Given the description of an element on the screen output the (x, y) to click on. 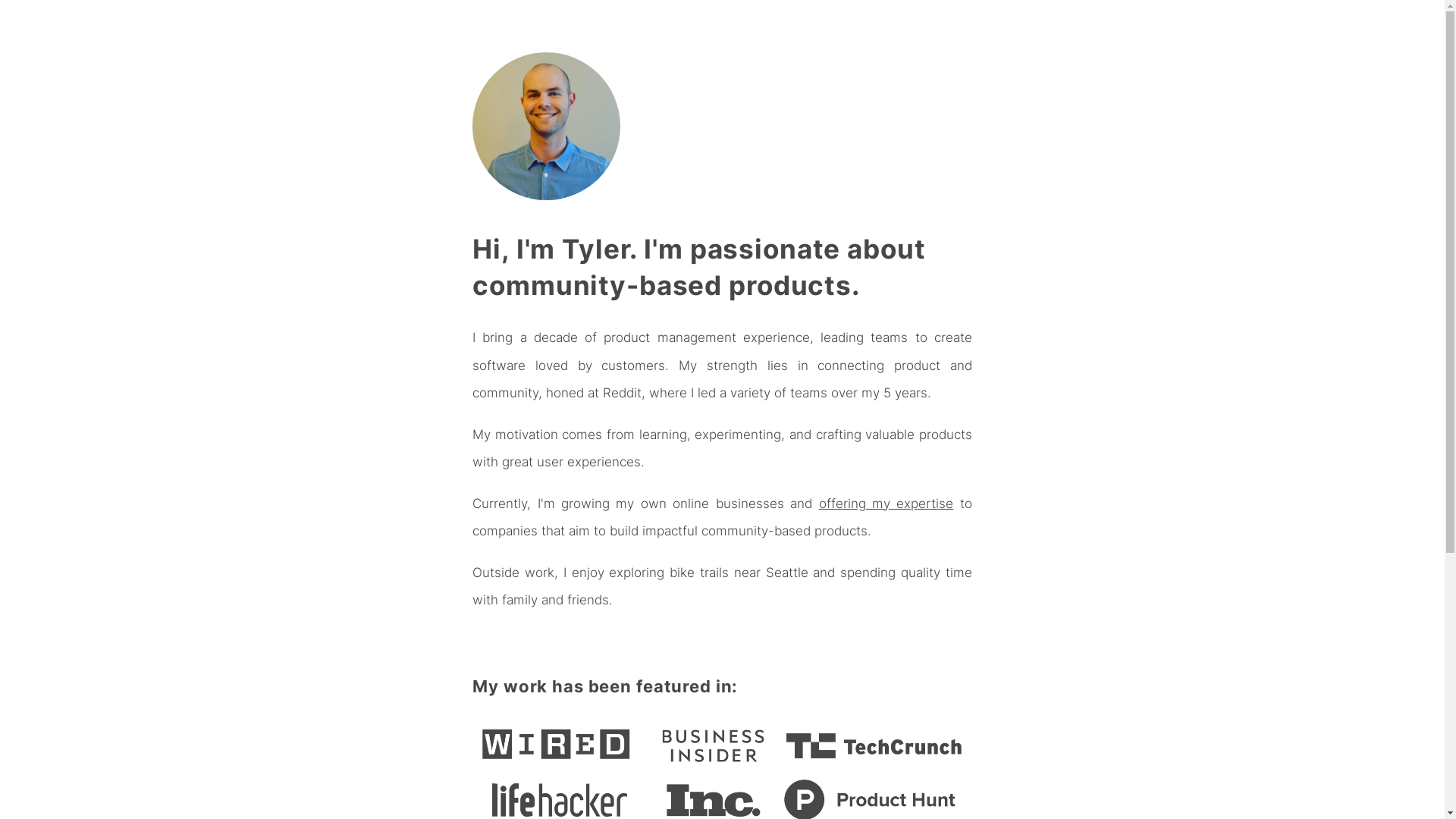
offering my expertise Element type: text (886, 503)
